Given the description of an element on the screen output the (x, y) to click on. 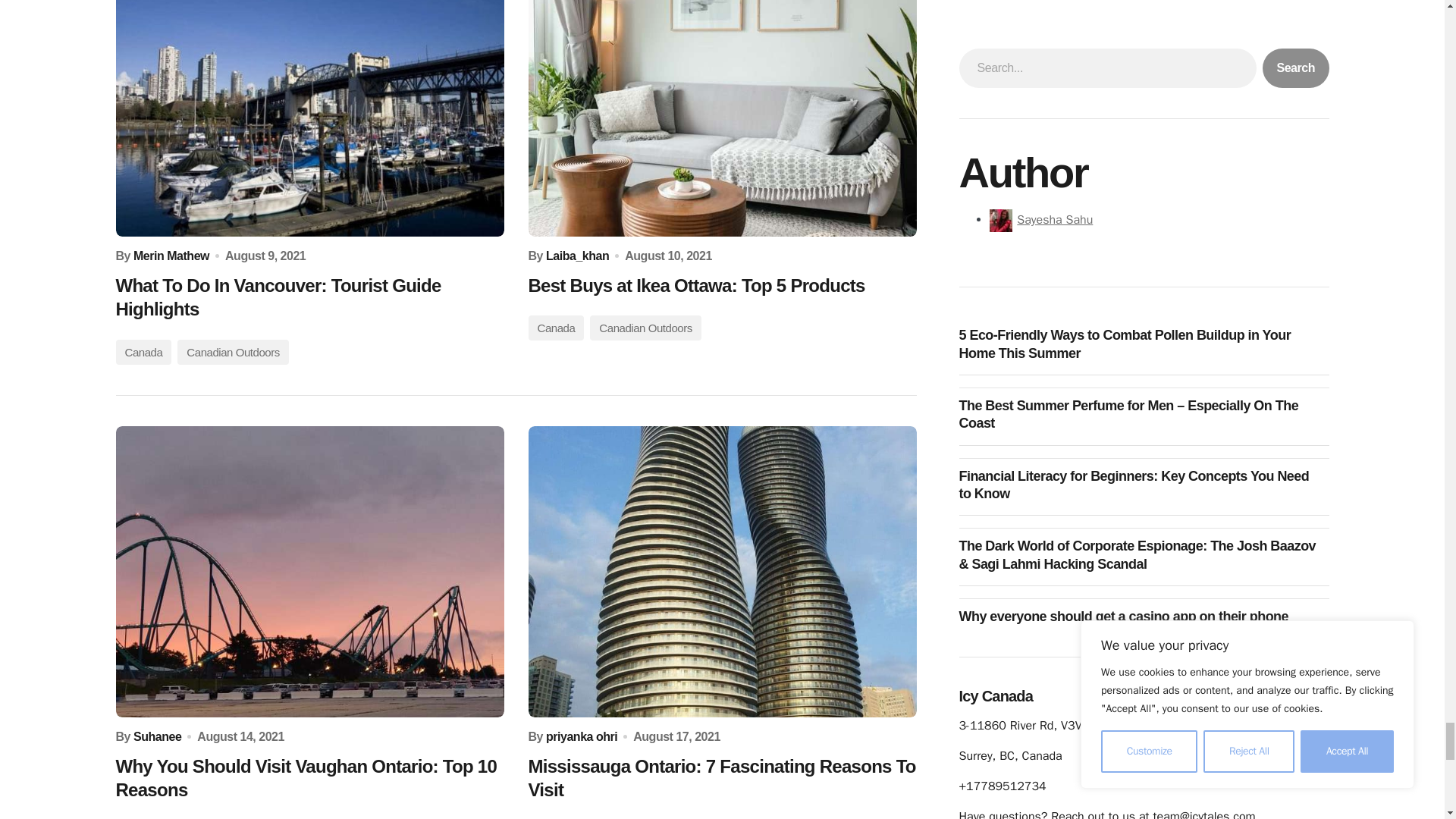
Why You Should Visit Vaughan Ontario: Top 10 Reasons (309, 571)
Mississauga Ontario: 7 Fascinating Reasons To Visit (721, 571)
Best Buys at Ikea Ottawa: Top 5 Products (721, 118)
What To Do In Vancouver: Tourist Guide Highlights (309, 118)
